Given the description of an element on the screen output the (x, y) to click on. 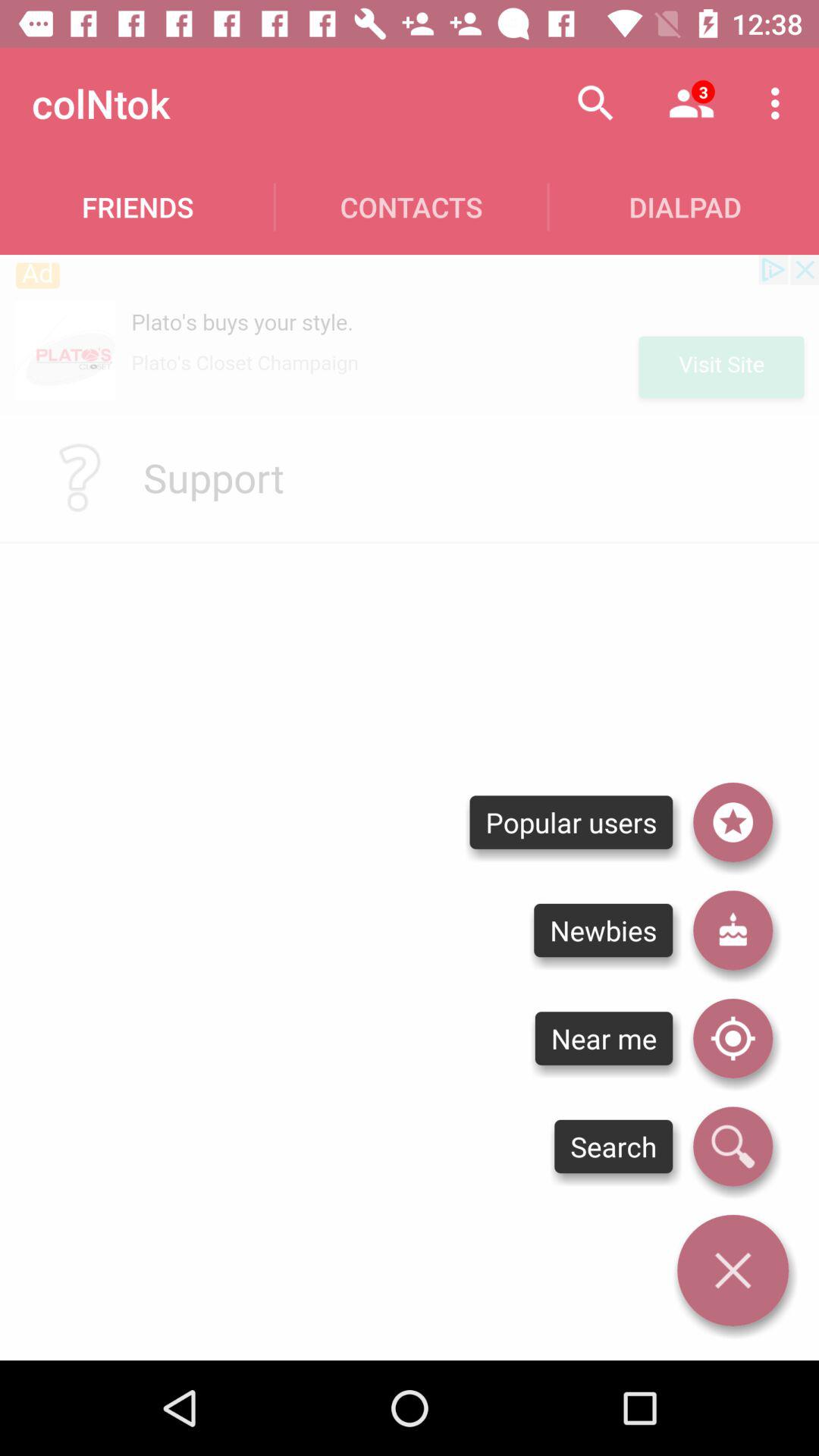
choose icon next to the near me (733, 1146)
